Given the description of an element on the screen output the (x, y) to click on. 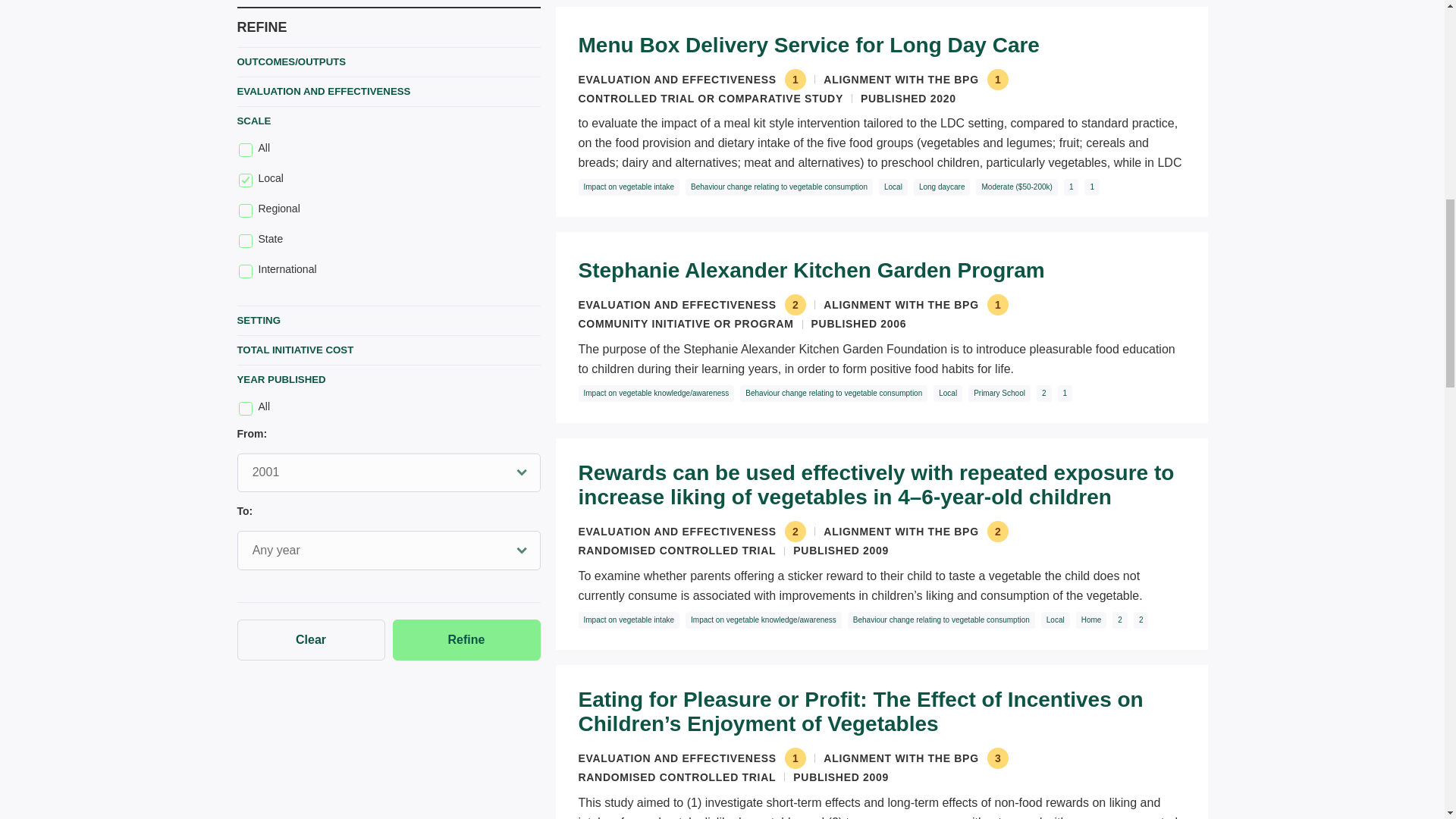
Year (387, 550)
Year (387, 473)
EVALUATION AND EFFECTIVENESS (387, 91)
SETTING (387, 319)
SCALE (387, 120)
